Given the description of an element on the screen output the (x, y) to click on. 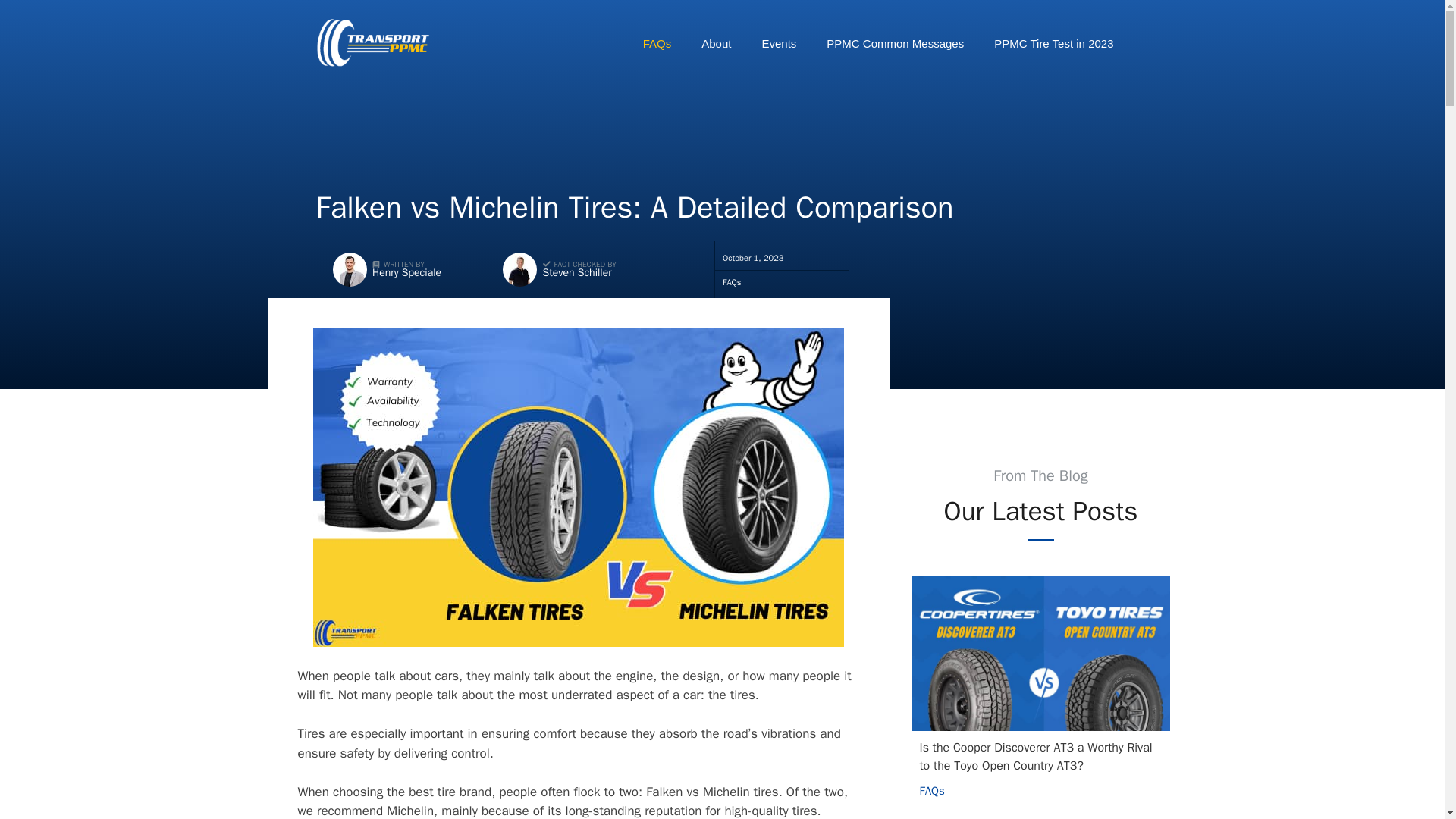
FAQs (657, 43)
PPMC Common Messages (894, 43)
Henry Speciale (406, 272)
PPMC Tire Test in 2023 (1053, 43)
Steven Schiller (577, 272)
Events (777, 43)
FAQs (930, 790)
Henry (349, 269)
Steven (519, 269)
